Given the description of an element on the screen output the (x, y) to click on. 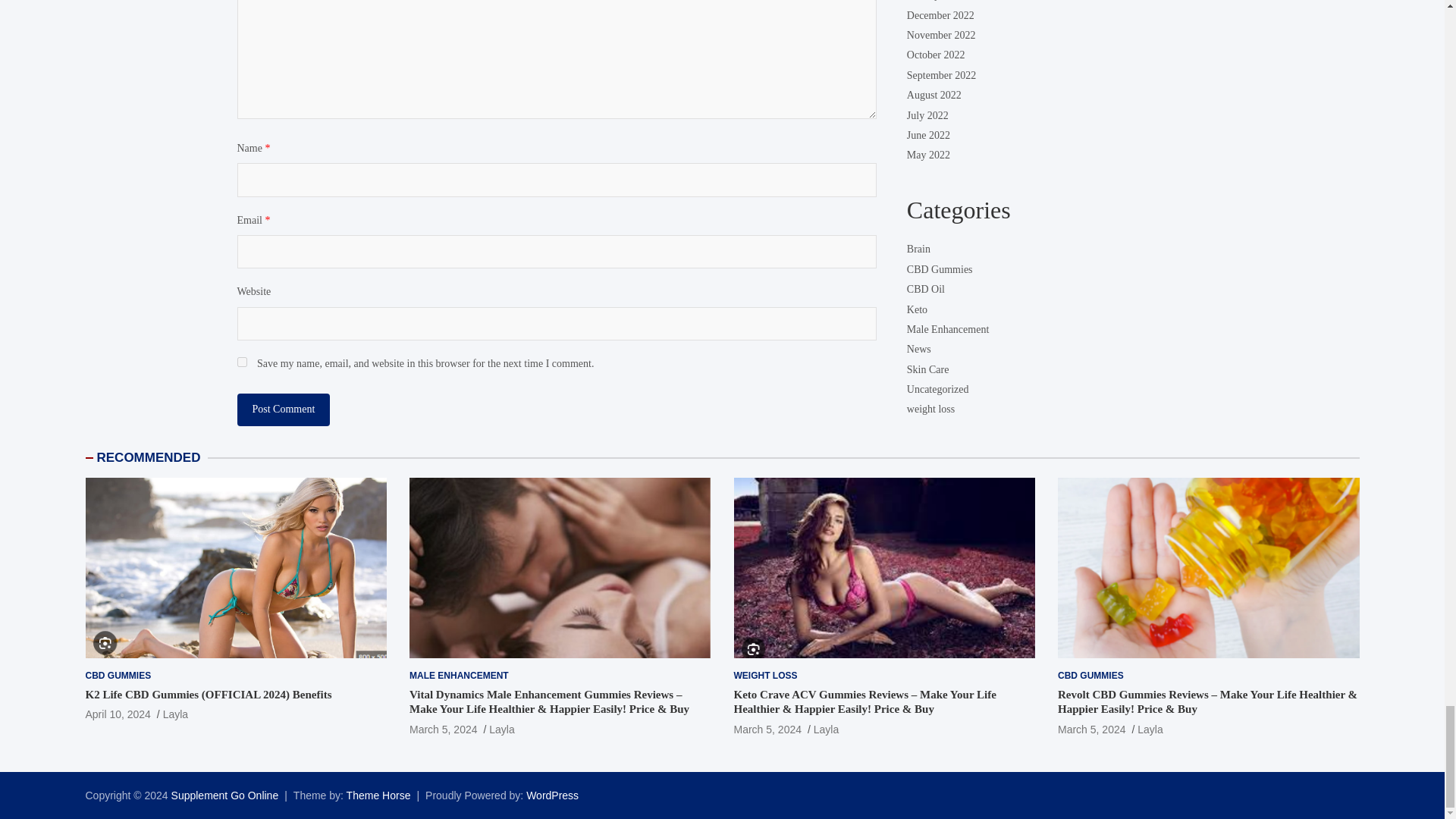
yes (240, 361)
Post Comment (282, 409)
Supplement Go Online (225, 795)
Theme Horse (378, 795)
WordPress (551, 795)
